Given the description of an element on the screen output the (x, y) to click on. 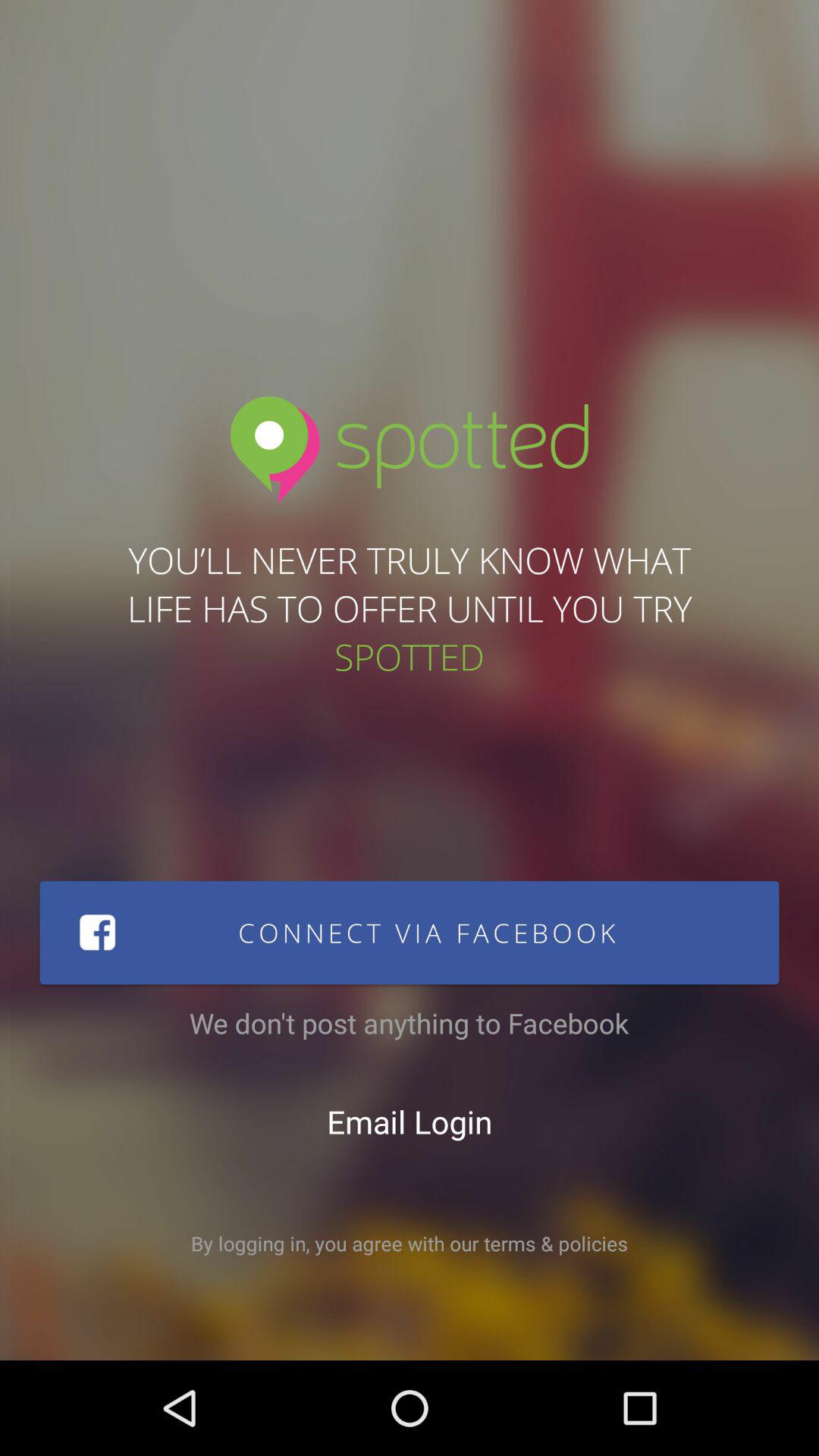
jump to email login item (409, 1121)
